Given the description of an element on the screen output the (x, y) to click on. 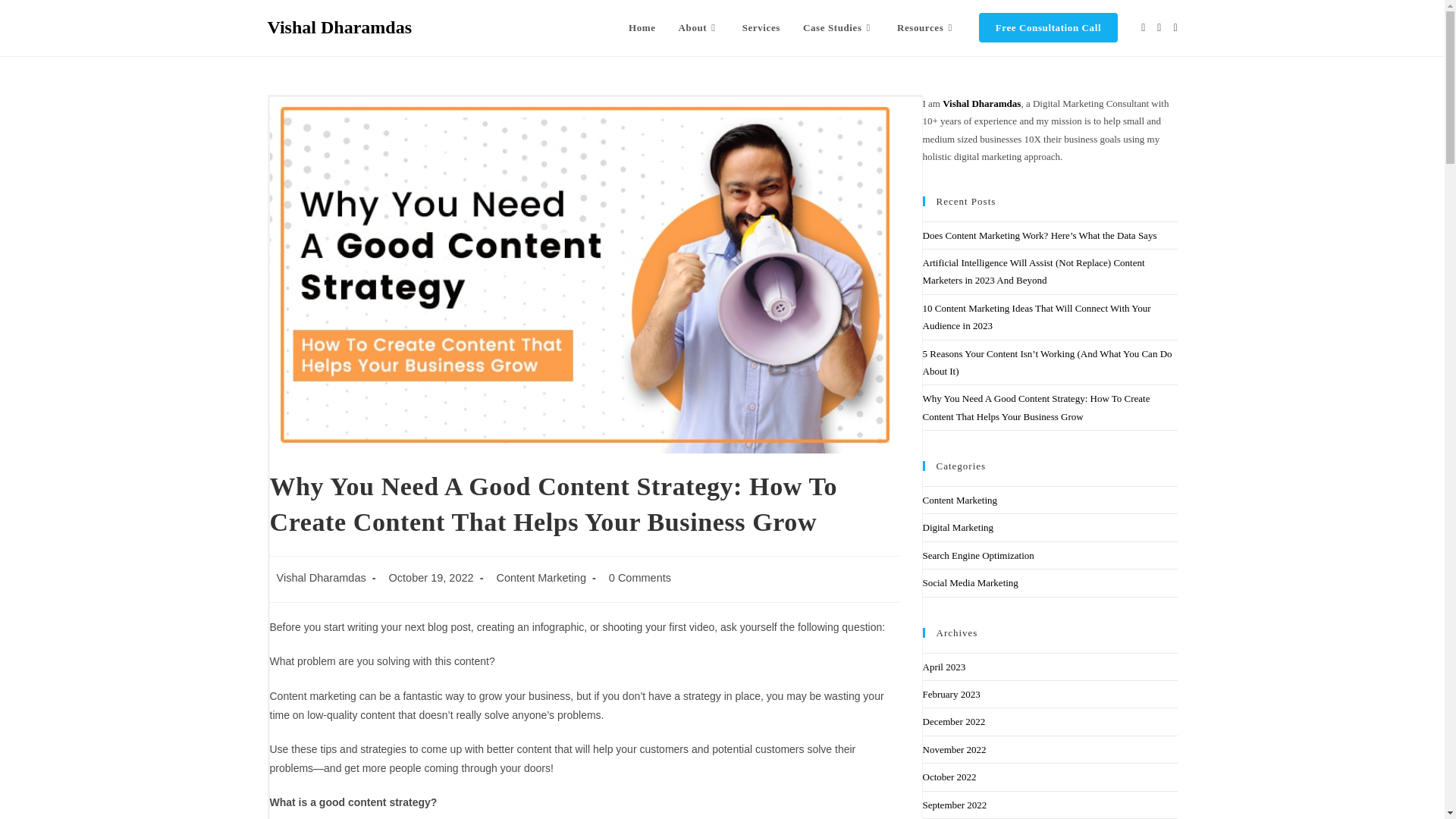
Services (761, 28)
Vishal Dharamdas (338, 26)
Case Studies (838, 28)
Free Consultation Call (1048, 28)
Content Marketing (540, 577)
Resources (926, 28)
Posts by Vishal Dharamdas (320, 577)
Vishal Dharamdas (320, 577)
0 Comments (639, 577)
About (698, 28)
Home (641, 28)
